Given the description of an element on the screen output the (x, y) to click on. 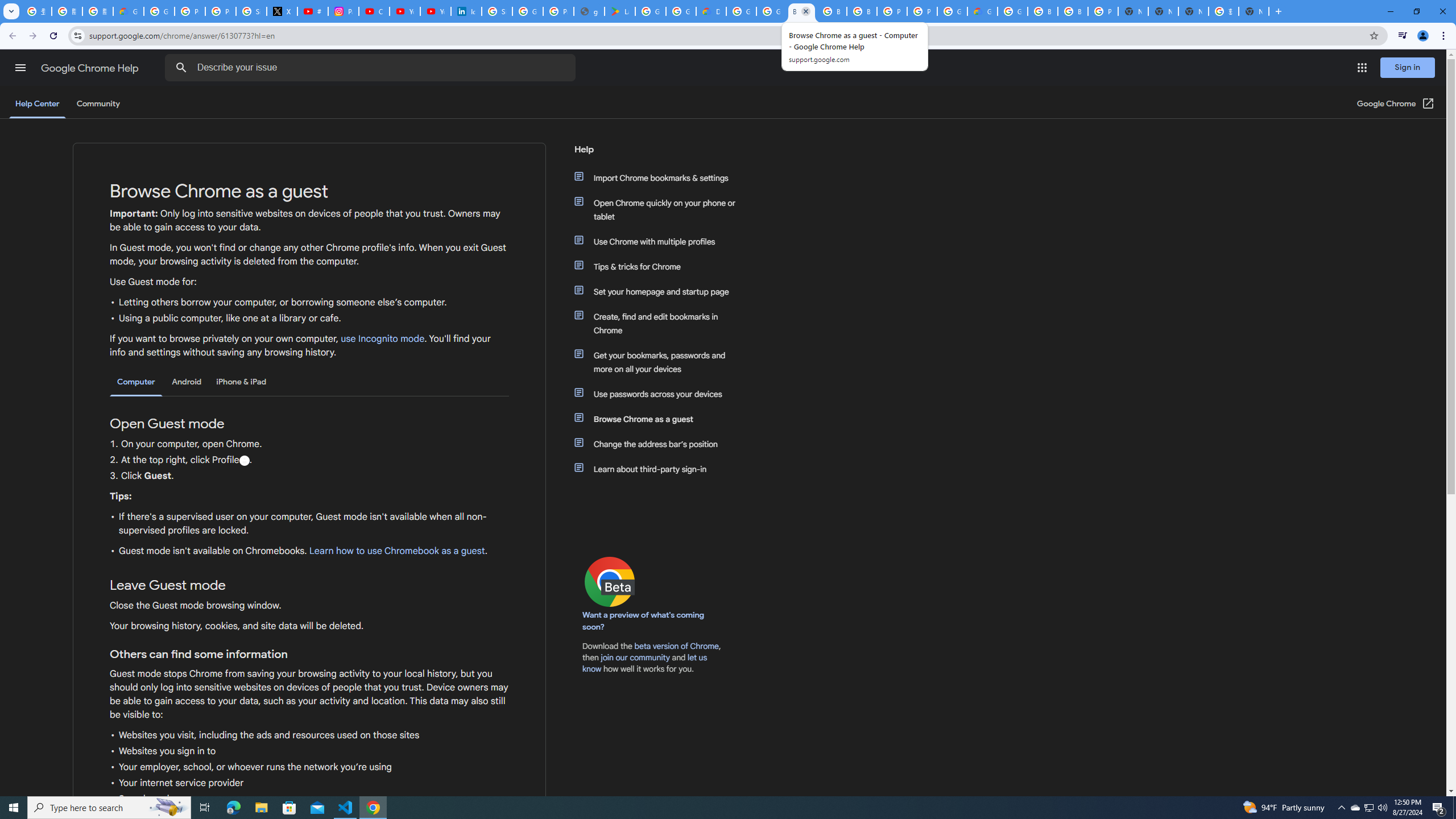
Privacy Help Center - Policies Help (220, 11)
New Tab (1132, 11)
Last Shelter: Survival - Apps on Google Play (619, 11)
Google Chrome (Open in a new window) (1395, 103)
